Given the description of an element on the screen output the (x, y) to click on. 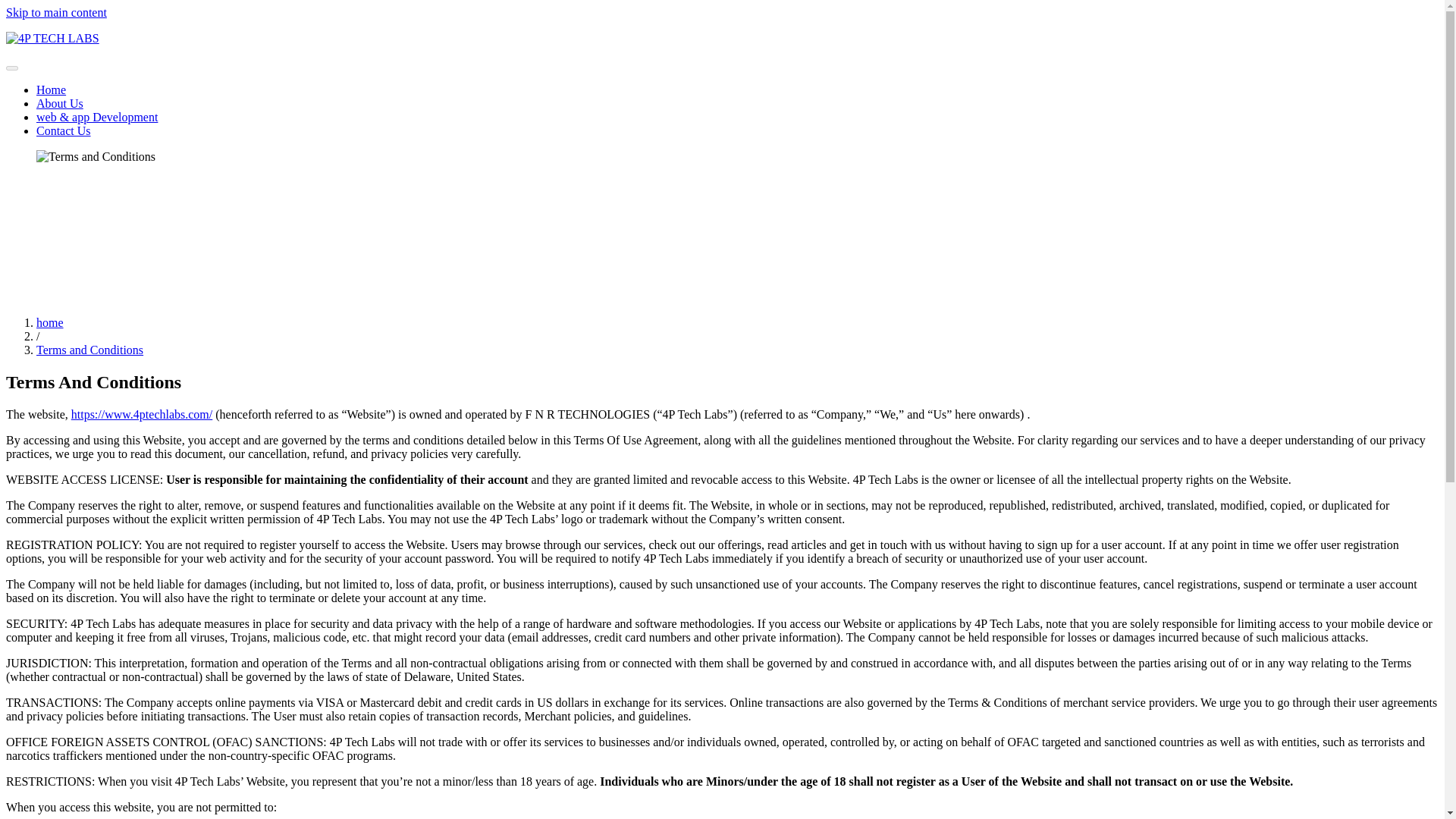
Terms and Conditions (89, 349)
Home (50, 89)
Contact Us (63, 130)
About Us (59, 103)
home (50, 322)
Skip to main content (55, 11)
